Given the description of an element on the screen output the (x, y) to click on. 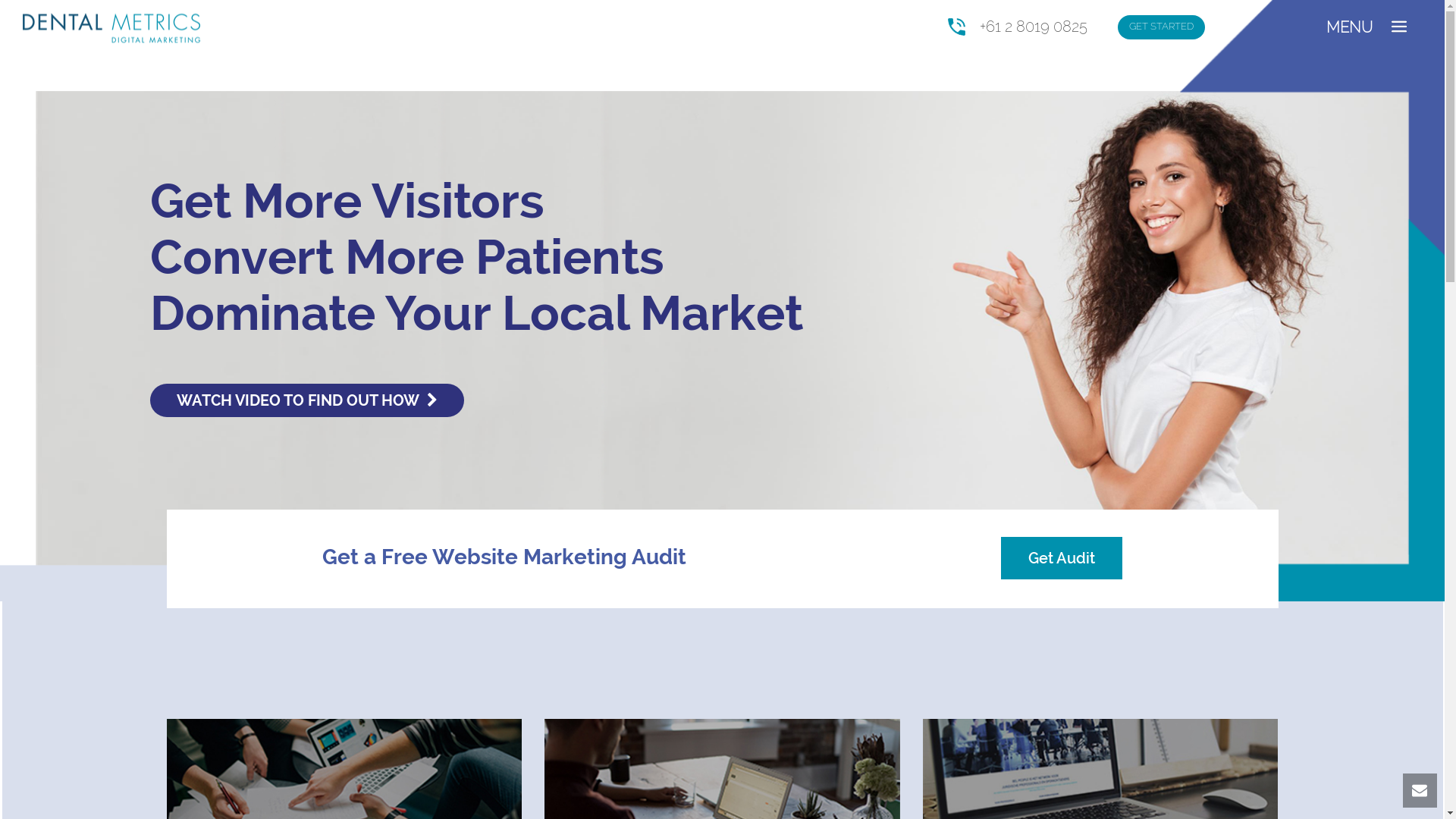
GET STARTED Element type: text (1160, 27)
Specialist Dental Marketing That Gets Results Element type: hover (112, 26)
+61 2 8019 0825 Element type: text (1033, 26)
Get Audit Element type: text (1061, 557)
MENU Element type: text (1349, 27)
